Given the description of an element on the screen output the (x, y) to click on. 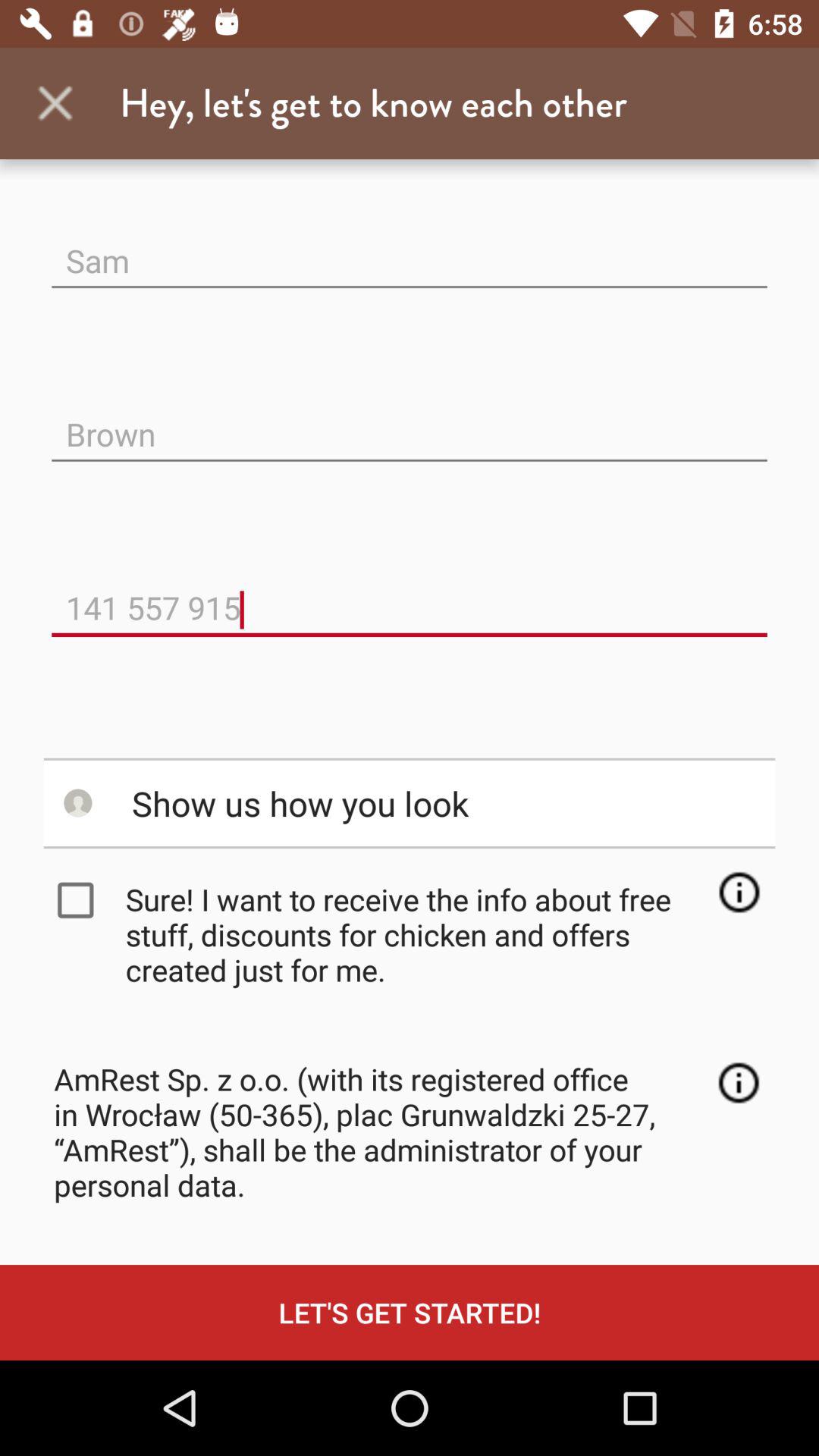
open the icon next to sure i want icon (79, 900)
